Given the description of an element on the screen output the (x, y) to click on. 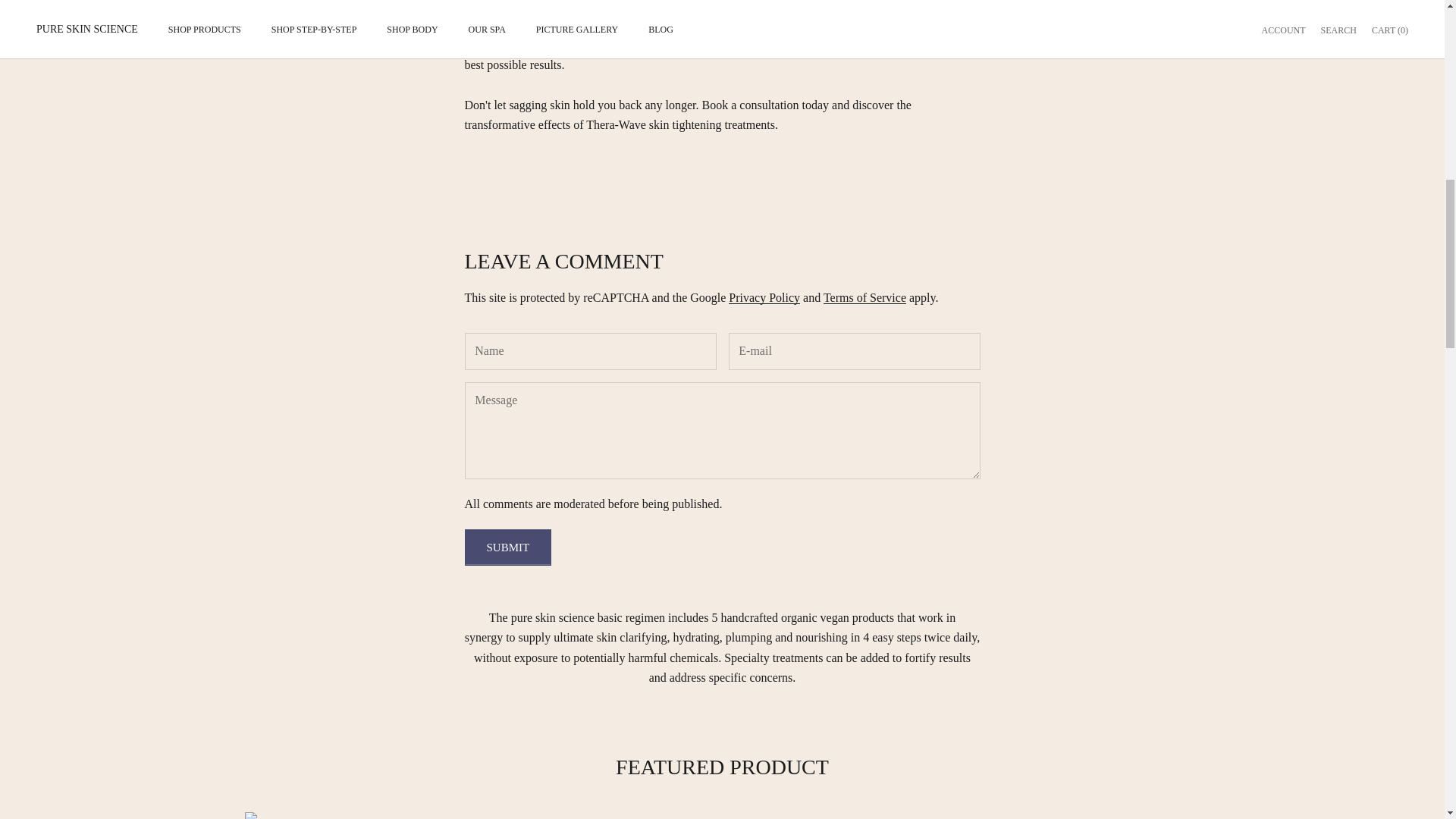
Privacy Policy (764, 297)
SUBMIT (507, 547)
Terms of Service (864, 297)
